Given the description of an element on the screen output the (x, y) to click on. 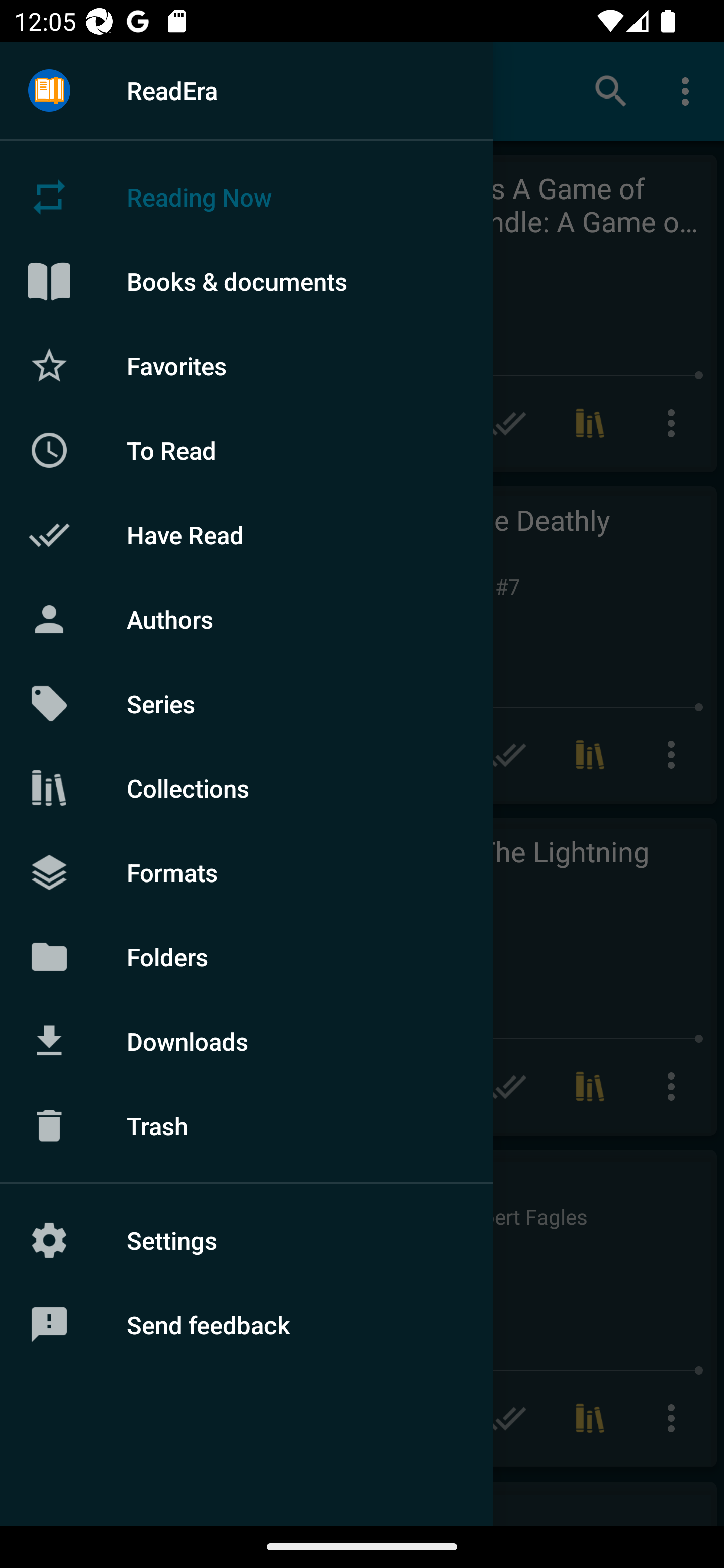
Menu (49, 91)
ReadEra (246, 89)
Search books & documents (611, 90)
More options (688, 90)
Reading Now (246, 197)
Books & documents (246, 281)
Favorites (246, 365)
To Read (246, 449)
Have Read (246, 534)
Authors (246, 619)
Series (246, 703)
Collections (246, 787)
Formats (246, 871)
Folders (246, 956)
Downloads (246, 1040)
Trash (246, 1125)
Settings (246, 1239)
Send feedback (246, 1324)
